Given the description of an element on the screen output the (x, y) to click on. 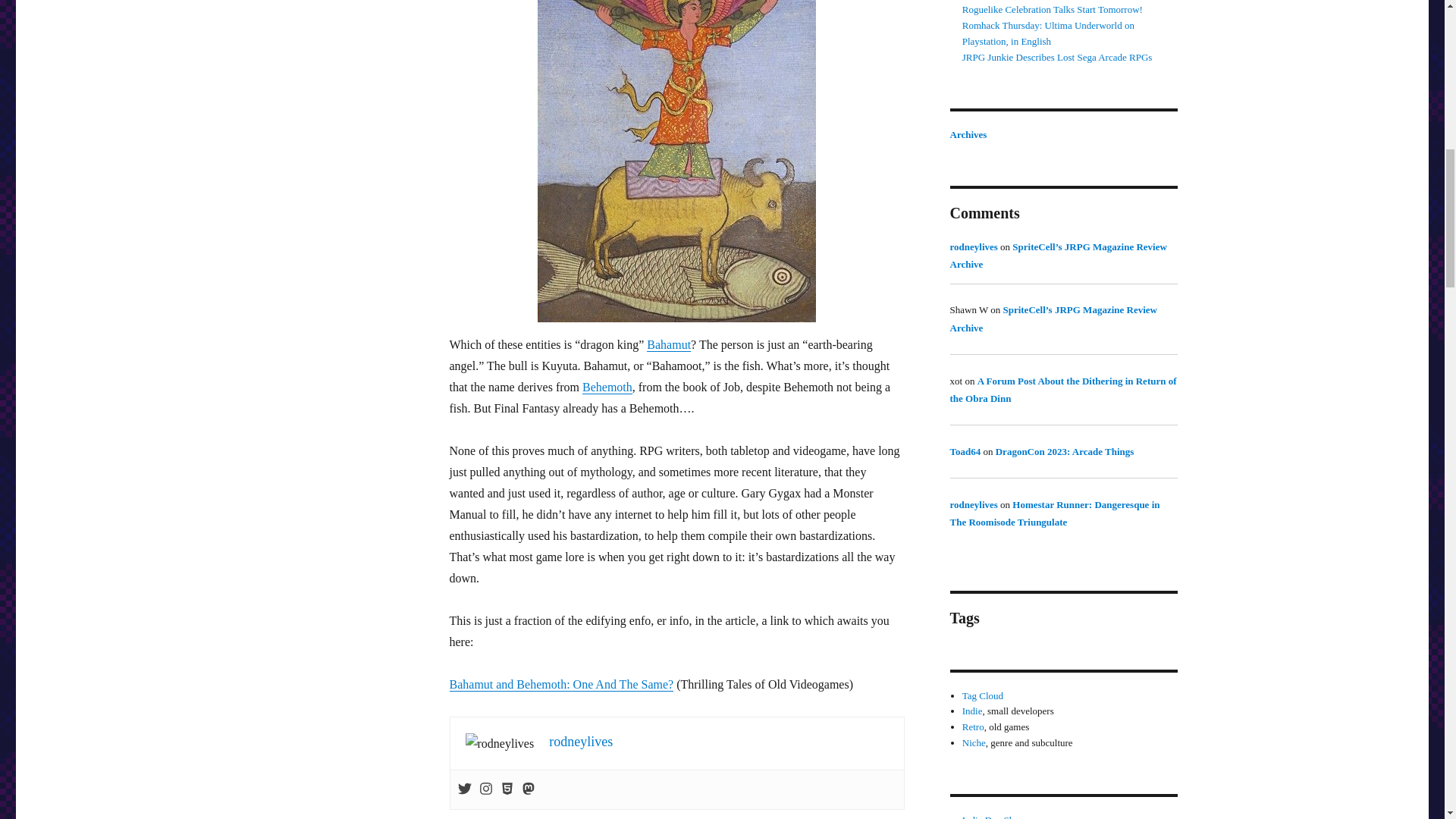
rodneylives (580, 741)
Bahamut (668, 344)
Behemoth (606, 386)
Bahamut and Behemoth: One And The Same? (560, 684)
